Given the description of an element on the screen output the (x, y) to click on. 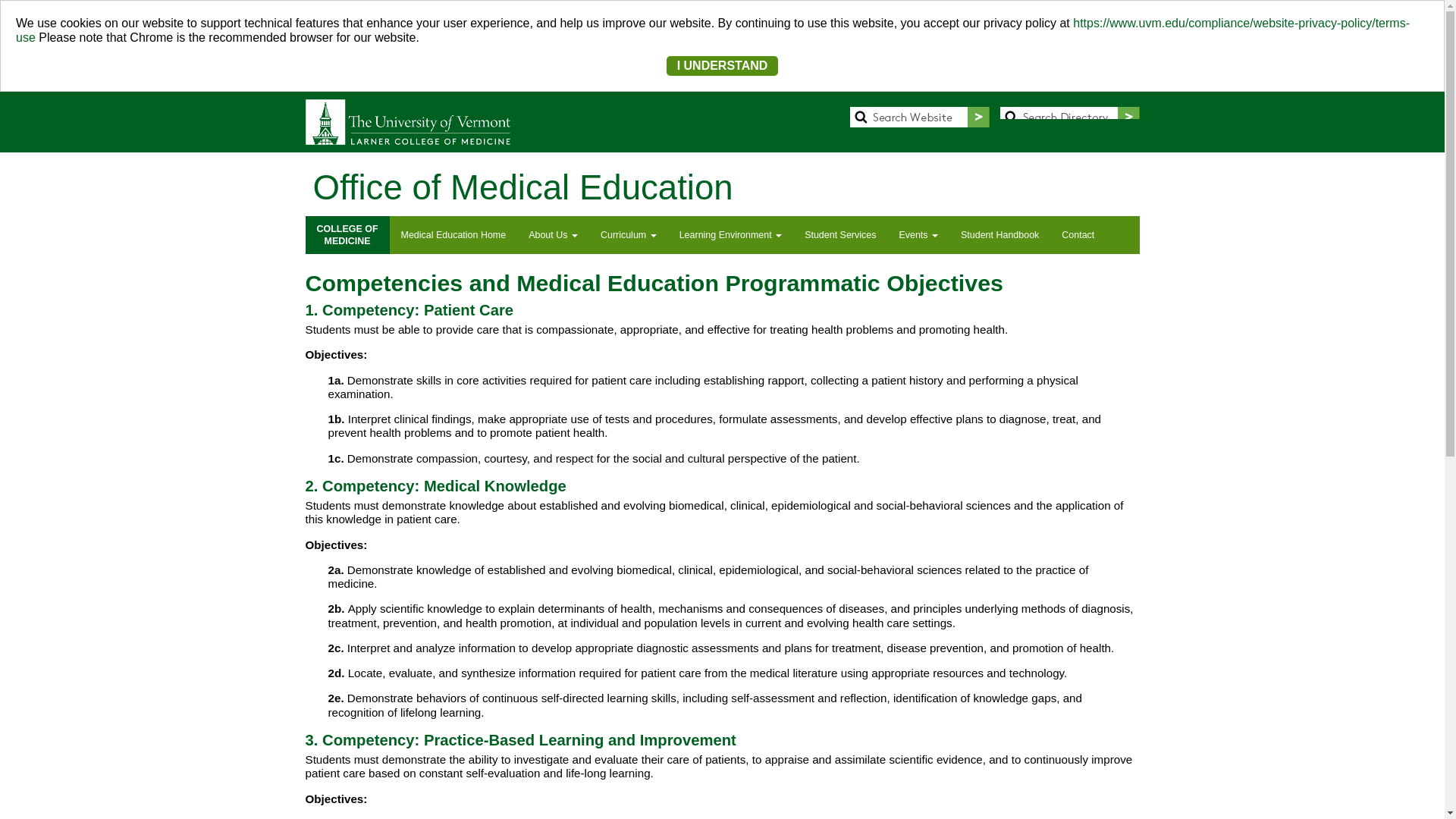
Curriculum (346, 234)
I UNDERSTAND (628, 234)
About Us (722, 65)
Learning Environment (552, 234)
Medical Education Home (730, 234)
Student Services (454, 234)
